Given the description of an element on the screen output the (x, y) to click on. 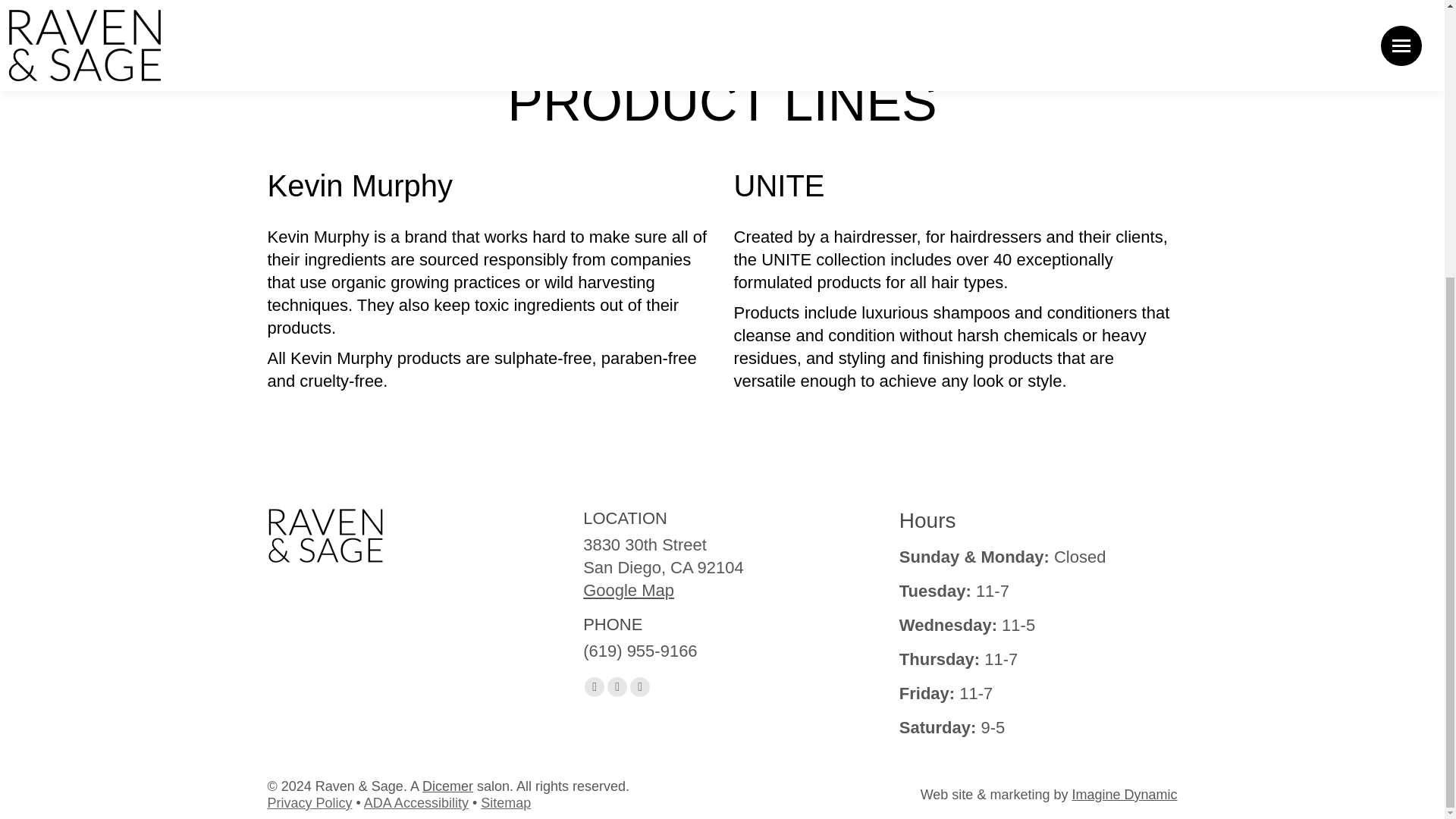
Instagram page opens in new window (639, 686)
Pinterest page opens in new window (617, 686)
Facebook page opens in new window (594, 686)
Pinterest page opens in new window (617, 686)
Dicemer (447, 785)
Google Map (628, 589)
Facebook page opens in new window (594, 686)
Instagram page opens in new window (639, 686)
